Given the description of an element on the screen output the (x, y) to click on. 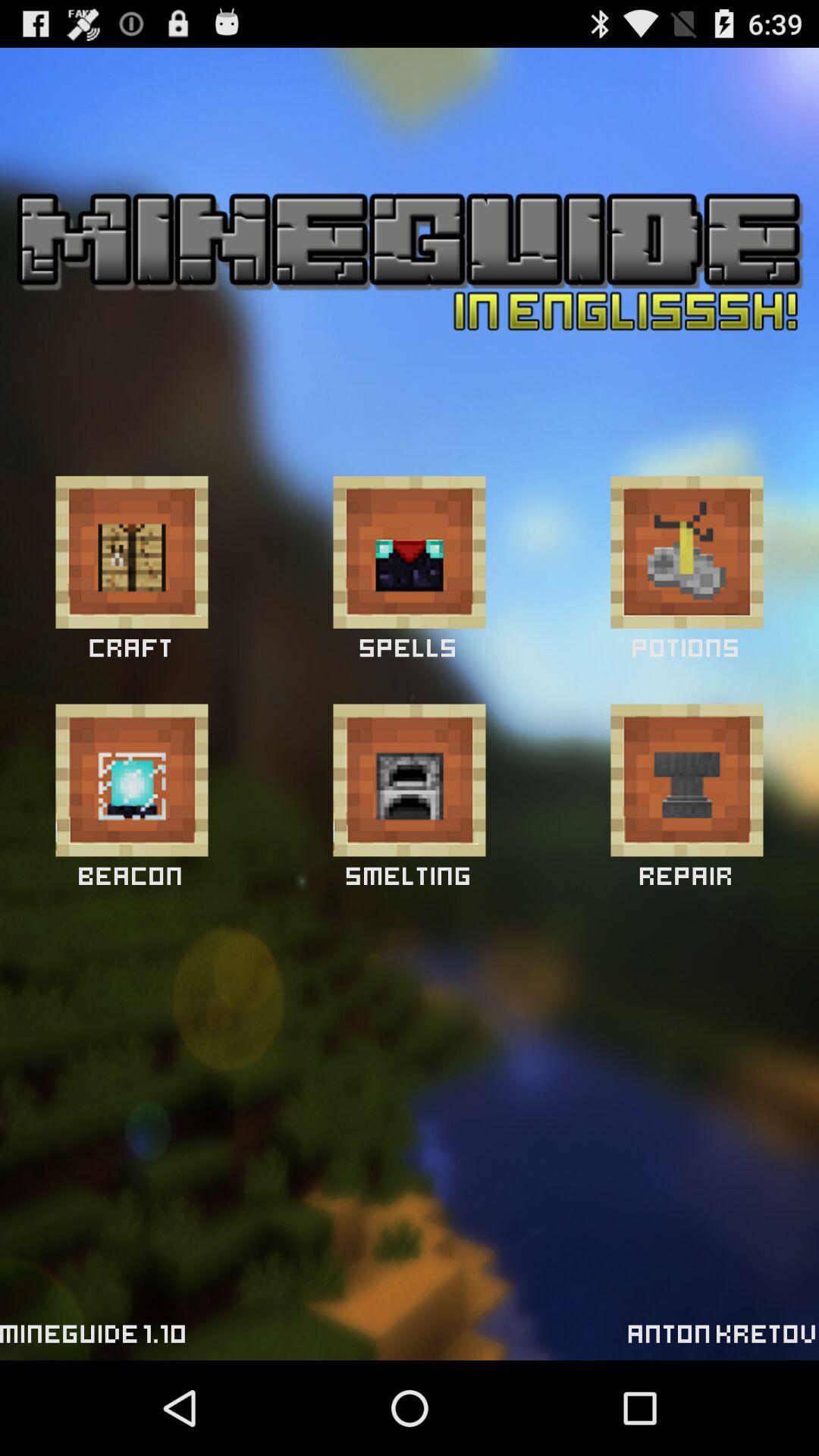
launch app below the spells (409, 780)
